Given the description of an element on the screen output the (x, y) to click on. 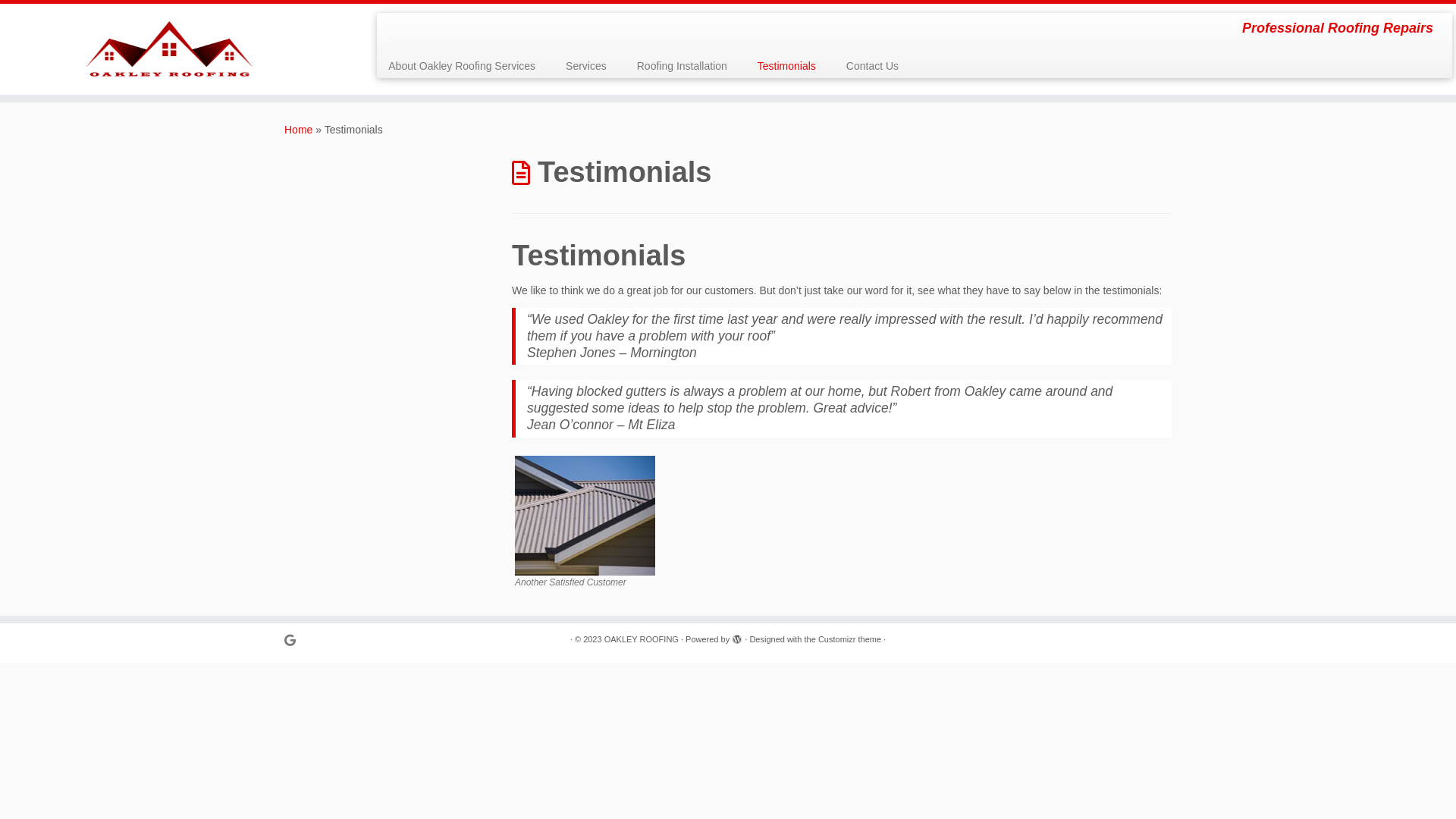
Contact Us Element type: text (864, 65)
Testimonials Element type: text (786, 65)
About Oakley Roofing Services Element type: text (467, 65)
Home Element type: text (298, 129)
OAKLEY ROOFING Element type: text (641, 639)
Follow me on Google+ Element type: hover (294, 640)
Powered by WordPress Element type: hover (736, 636)
Services Element type: text (585, 65)
Roofing Installation Element type: text (681, 65)
Customizr theme Element type: text (849, 639)
